Given the description of an element on the screen output the (x, y) to click on. 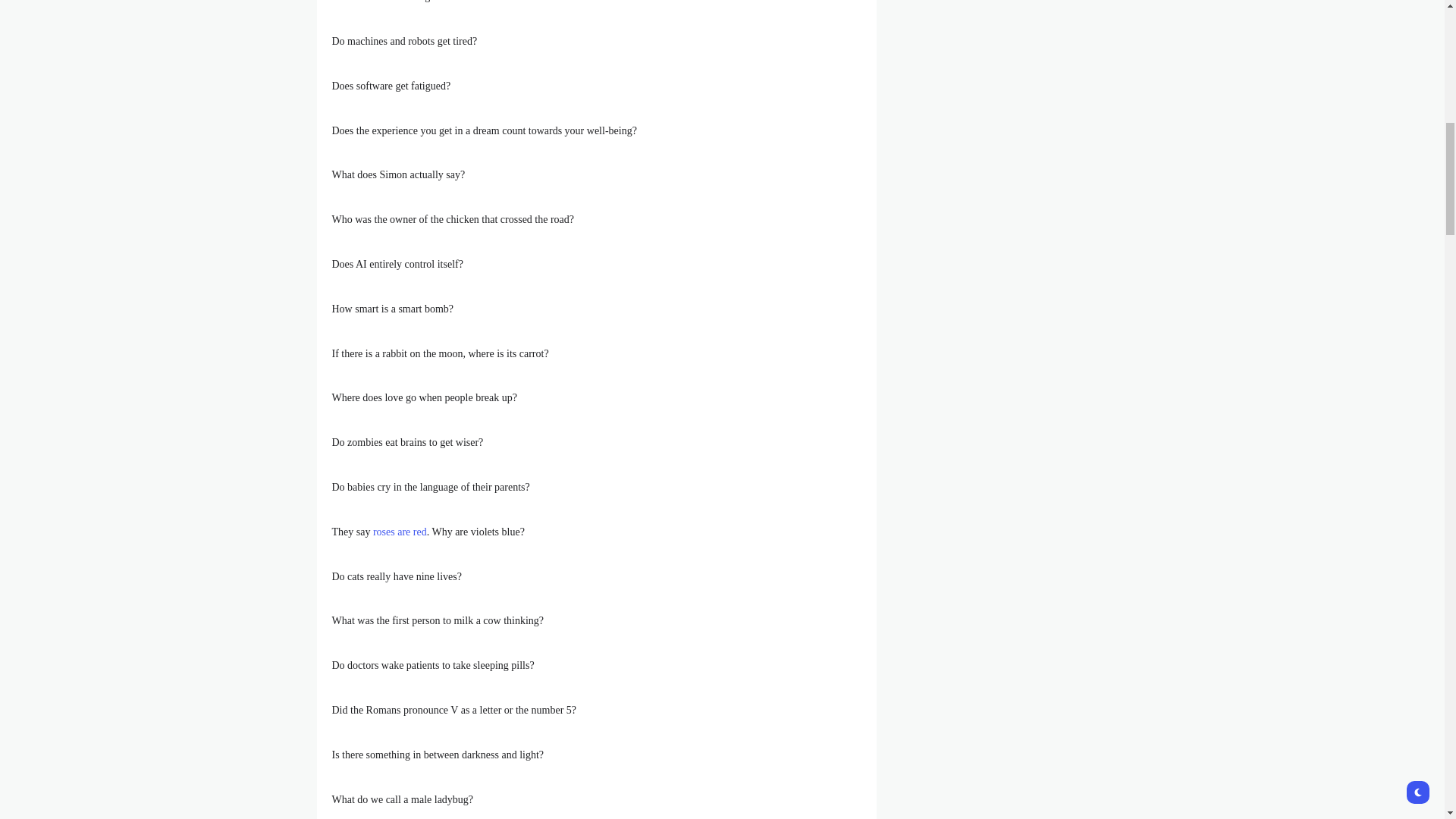
roses are red (399, 531)
